Given the description of an element on the screen output the (x, y) to click on. 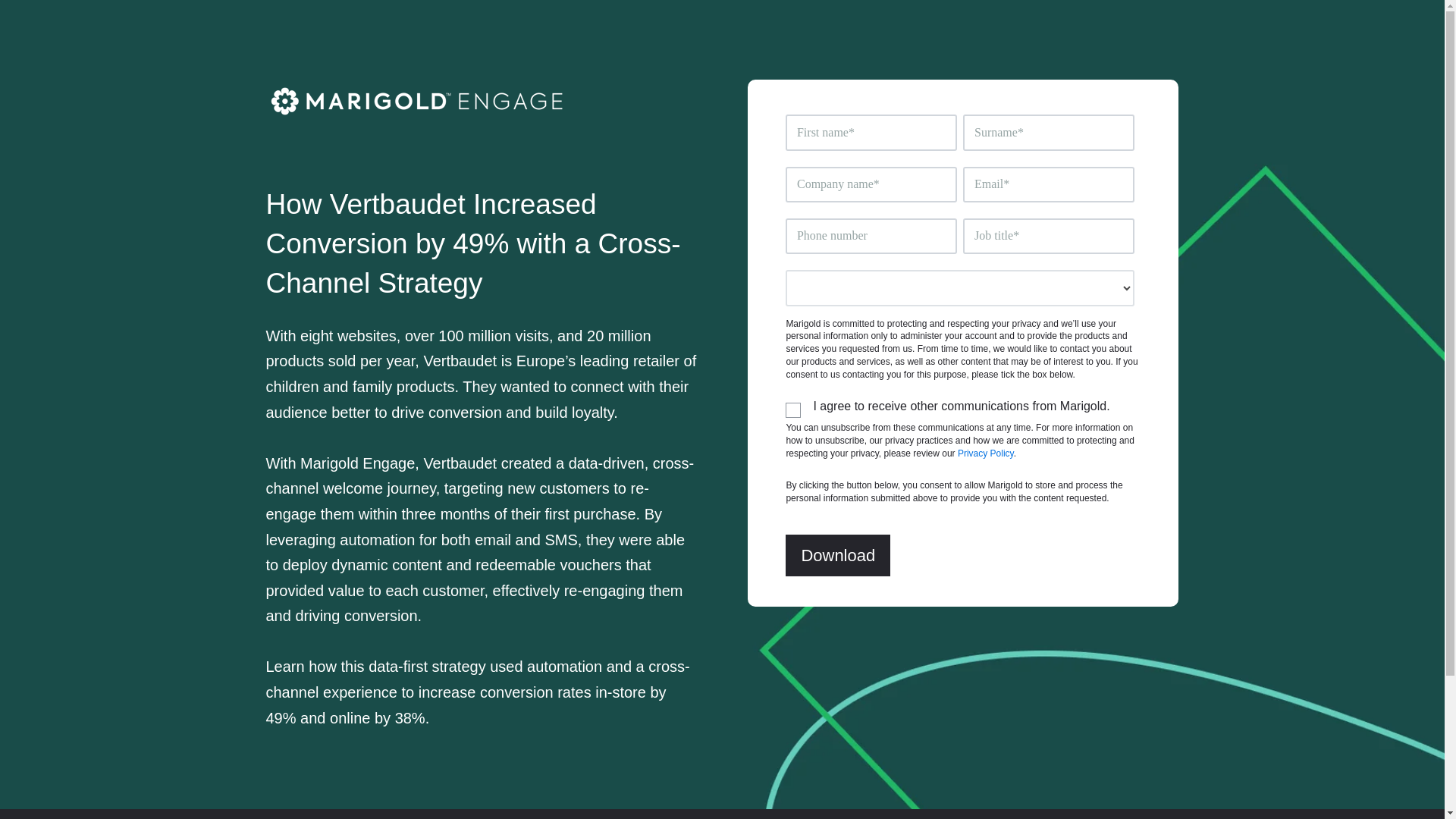
Download (837, 555)
Privacy Policy (985, 452)
Download (837, 555)
